Given the description of an element on the screen output the (x, y) to click on. 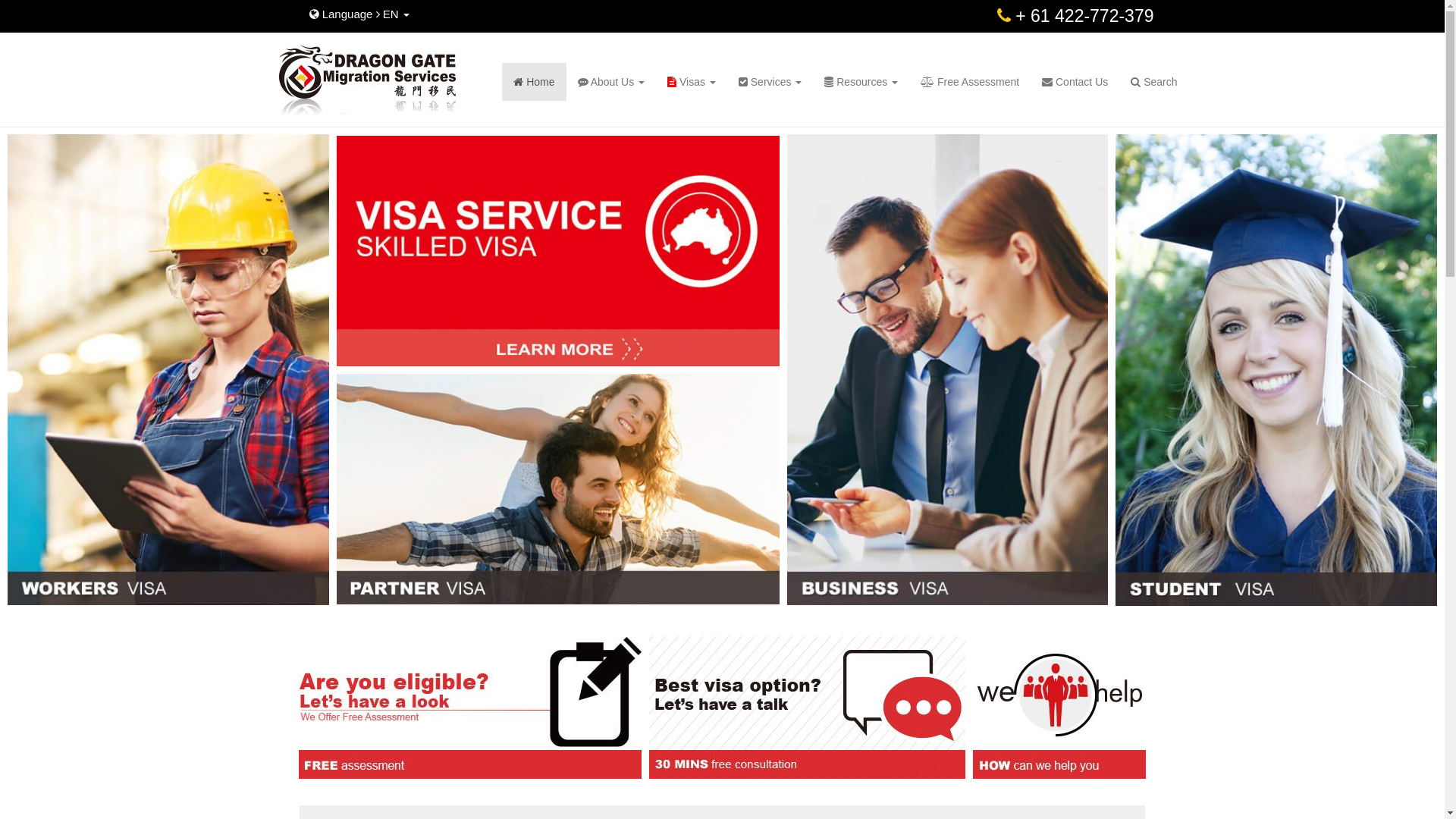
Services Element type: text (769, 81)
Free Assessment Element type: text (969, 81)
Visas Element type: text (691, 81)
30 mins free consultation Element type: hover (807, 707)
Contact Us Element type: text (1074, 81)
Search Element type: text (1153, 81)
Language EN Element type: text (344, 13)
Home Element type: text (533, 81)
Free assessment Element type: hover (469, 707)
Resources Element type: text (860, 81)
HOW can help you Element type: hover (1058, 707)
About Us Element type: text (611, 81)
